Given the description of an element on the screen output the (x, y) to click on. 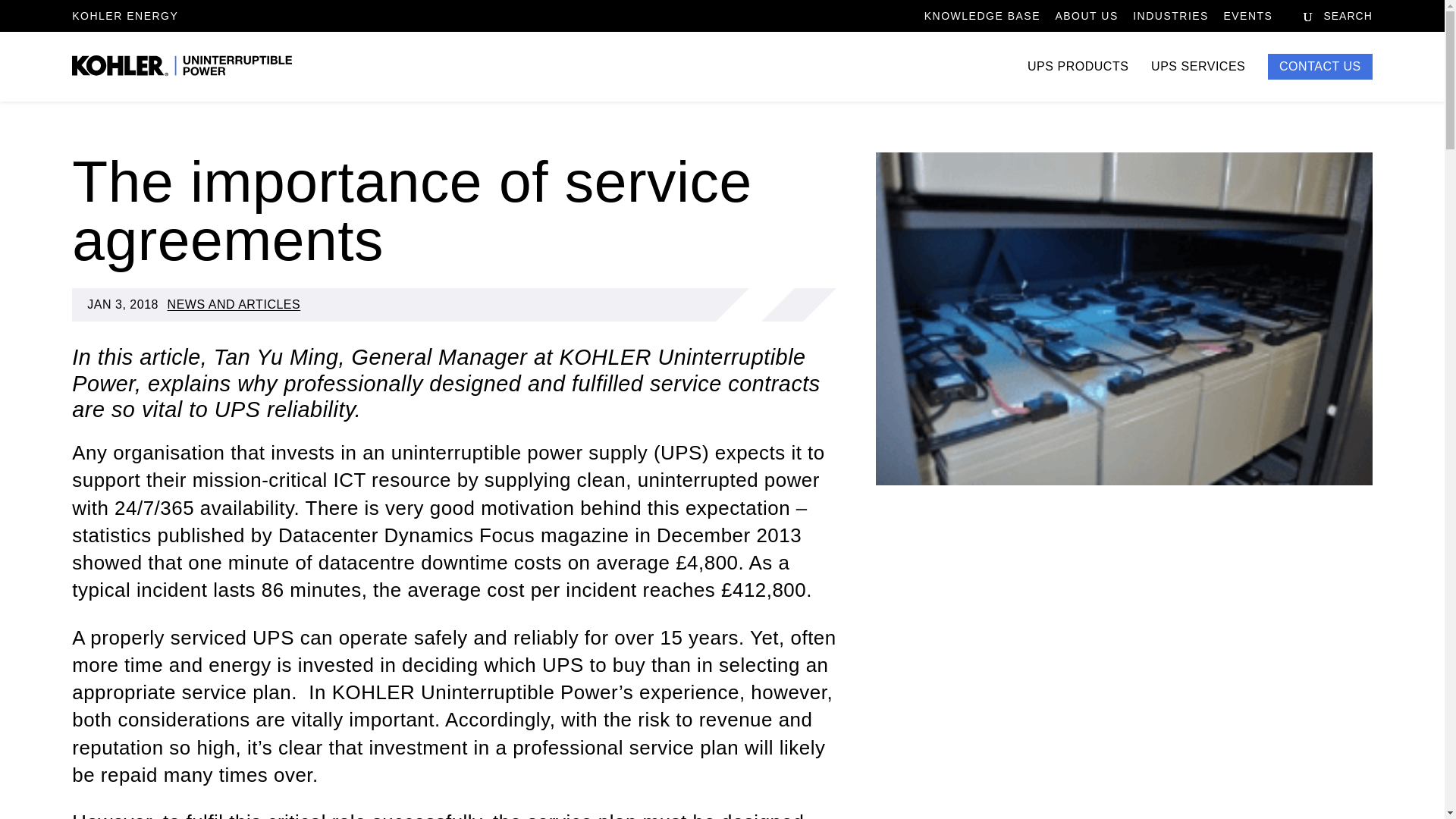
KOHLER ENERGY (124, 15)
KNOWLEDGE BASE (982, 19)
Logo (181, 66)
CONTACT US (1320, 66)
UPS SERVICES (1197, 81)
INDUSTRIES (1170, 19)
UPS PRODUCTS (1077, 81)
ABOUT US (1086, 19)
EVENTS (1247, 19)
